Given the description of an element on the screen output the (x, y) to click on. 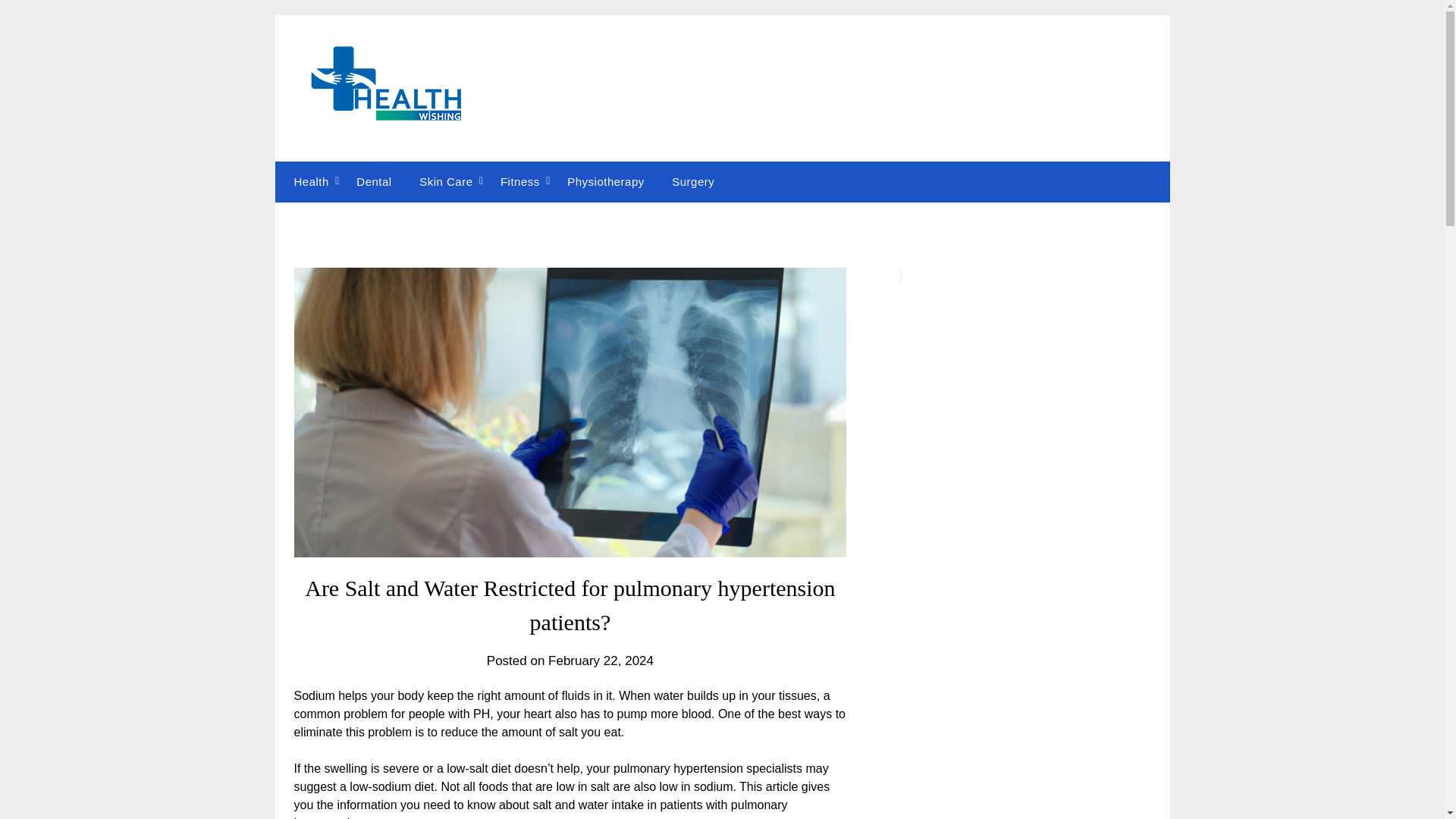
Fitness (519, 181)
Dental (373, 181)
Physiotherapy (605, 181)
Skin Care (445, 181)
Health (307, 181)
Surgery (692, 181)
